Given the description of an element on the screen output the (x, y) to click on. 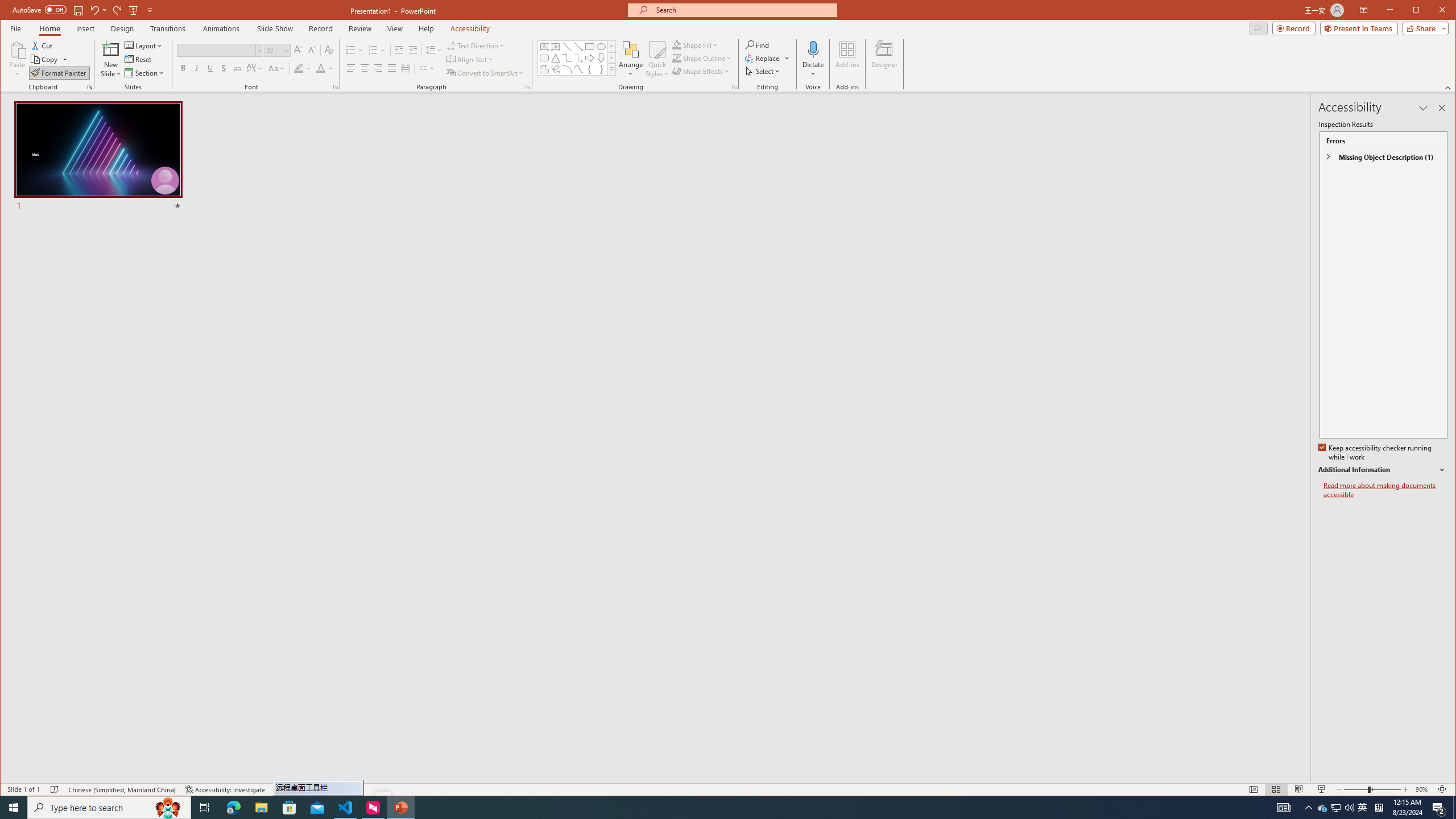
Read more about making documents accessible (1385, 489)
